Given the description of an element on the screen output the (x, y) to click on. 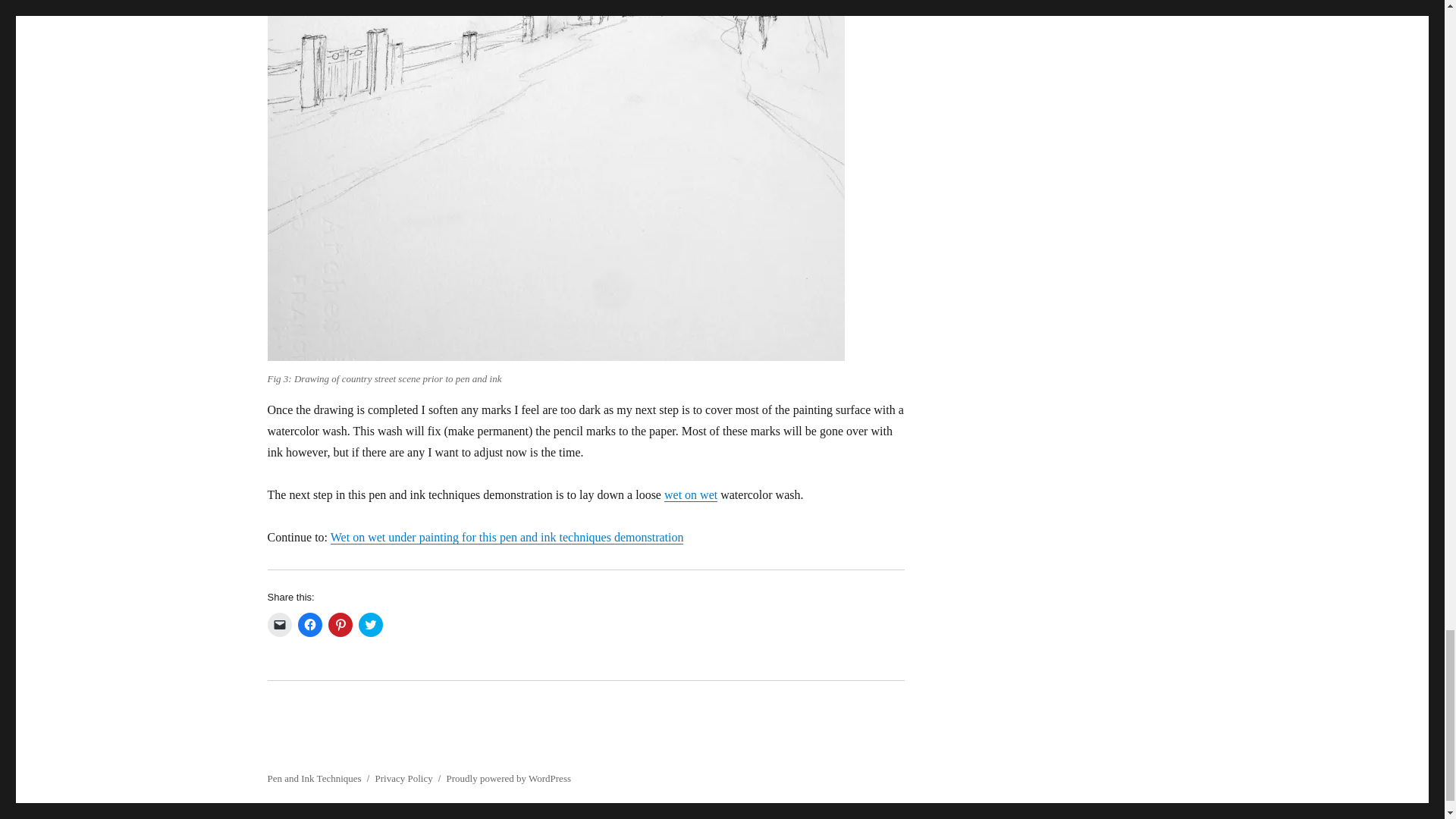
Pen and Ink Techniques (313, 778)
Pen and ink techniques watercolor under painting (507, 536)
What is a wet on wet watercolor painting technique (690, 494)
Click to share on Twitter (369, 624)
Privacy Policy (403, 778)
Click to share on Pinterest (339, 624)
Click to share on Facebook (309, 624)
Click to email a link to a friend (278, 624)
Proudly powered by WordPress (508, 778)
